Given the description of an element on the screen output the (x, y) to click on. 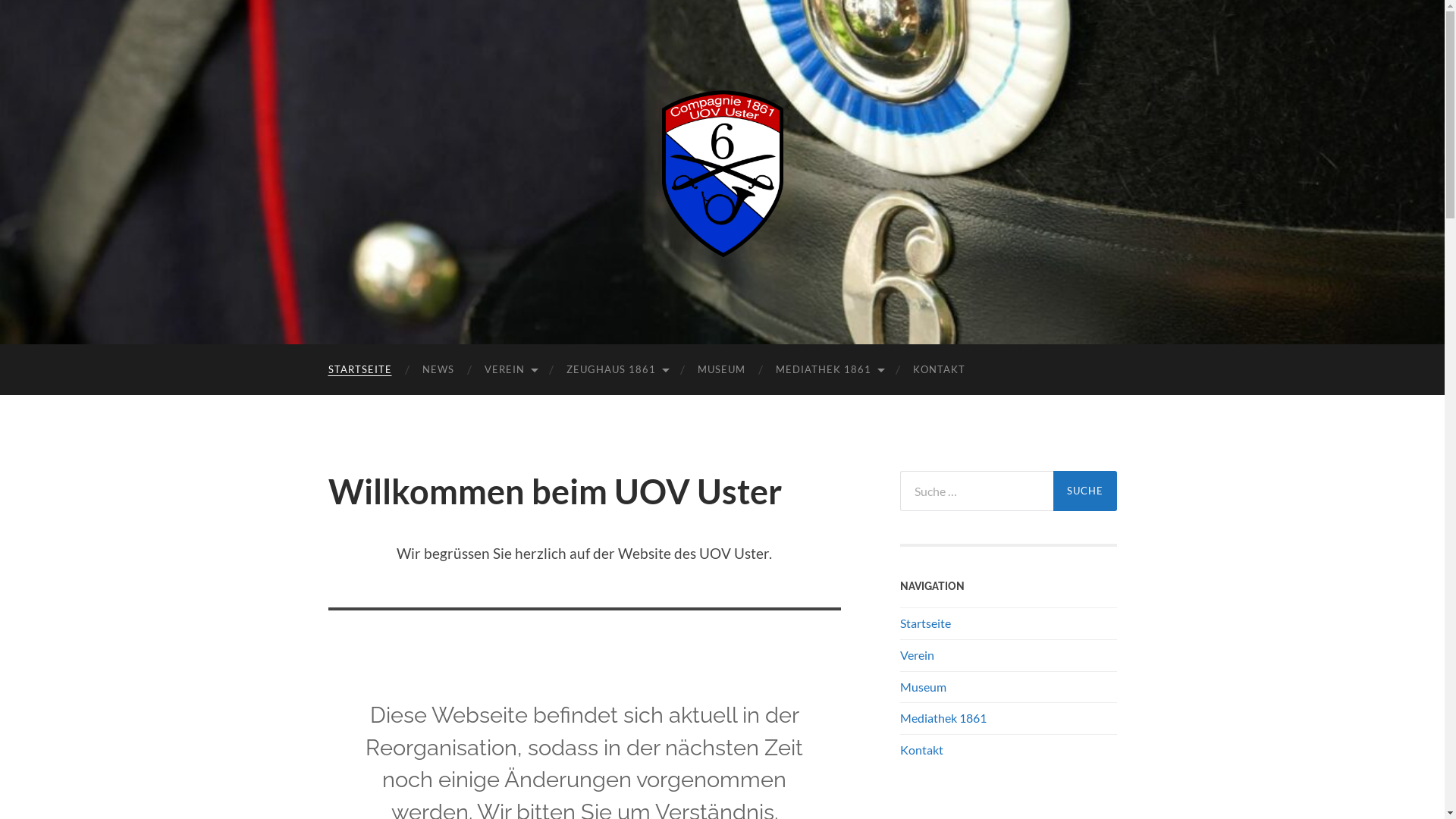
ZEUGHAUS 1861 Element type: text (615, 369)
STARTSEITE Element type: text (359, 369)
Mediathek 1861 Element type: text (942, 717)
Kontakt Element type: text (920, 749)
VEREIN Element type: text (509, 369)
Compagnie 1861 Element type: text (722, 170)
MEDIATHEK 1861 Element type: text (828, 369)
Suche Element type: text (1084, 490)
Museum Element type: text (922, 686)
KONTAKT Element type: text (938, 369)
NEWS Element type: text (437, 369)
Verein Element type: text (916, 654)
MUSEUM Element type: text (721, 369)
Startseite Element type: text (924, 622)
